Given the description of an element on the screen output the (x, y) to click on. 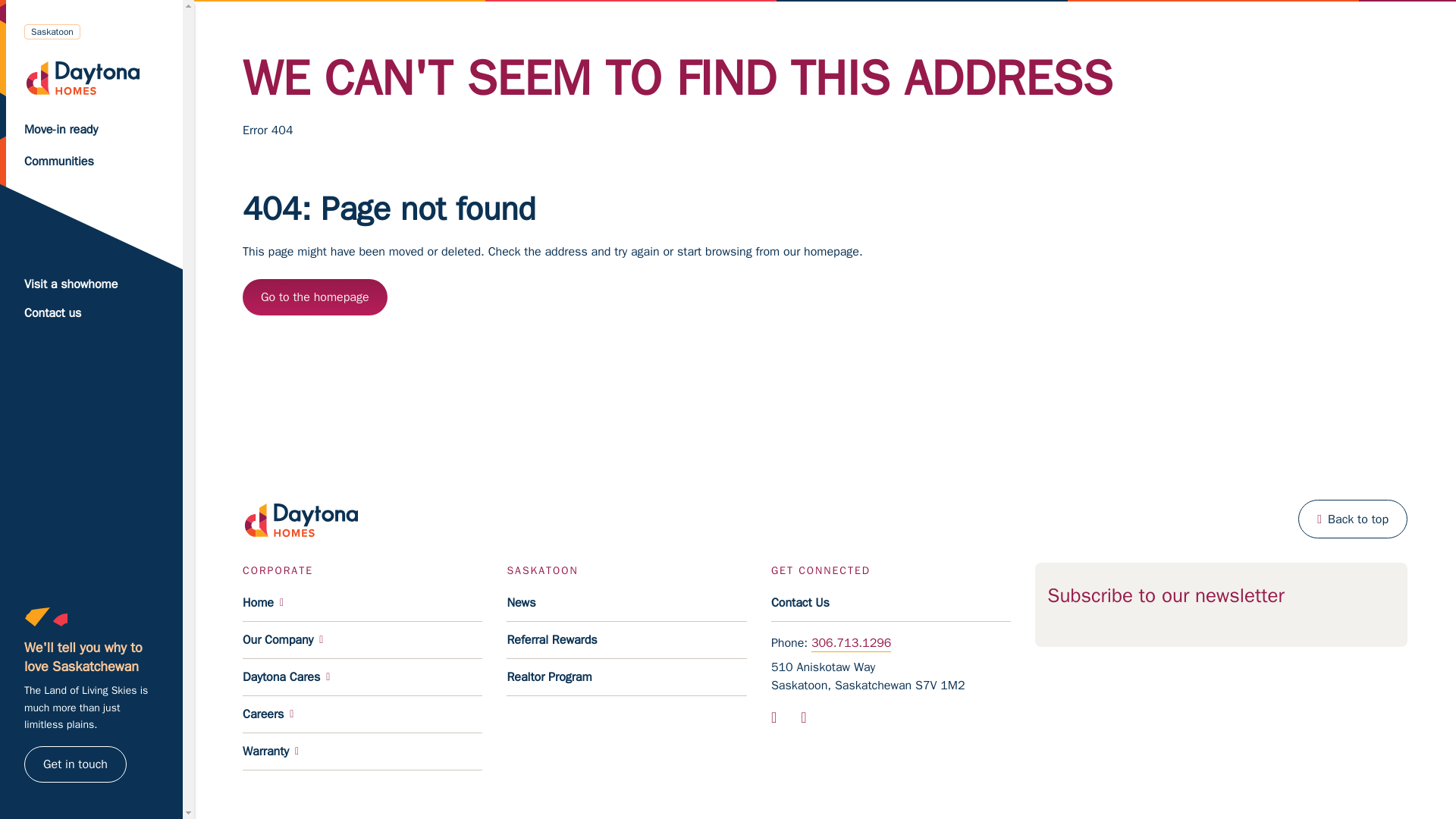
Contact Us (890, 602)
Our Company (362, 640)
306.713.1296 (850, 642)
Get in touch (75, 764)
Communities (94, 161)
Warranty (362, 751)
Realtor Program (625, 677)
Daytona Homes (94, 76)
Careers (362, 714)
Contact us (91, 313)
